Given the description of an element on the screen output the (x, y) to click on. 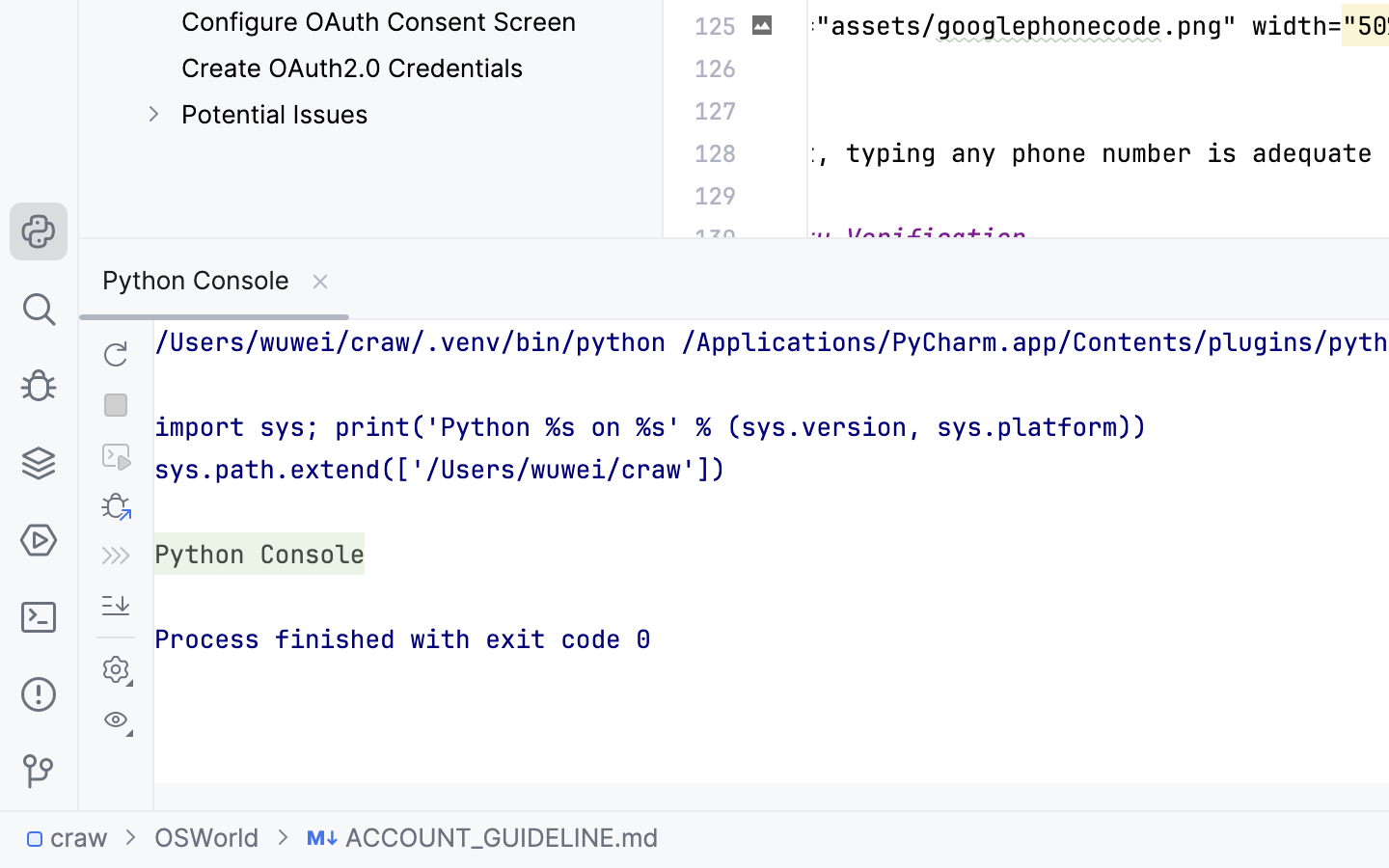
Python Console Element type: AXStaticText (214, 279)
